Given the description of an element on the screen output the (x, y) to click on. 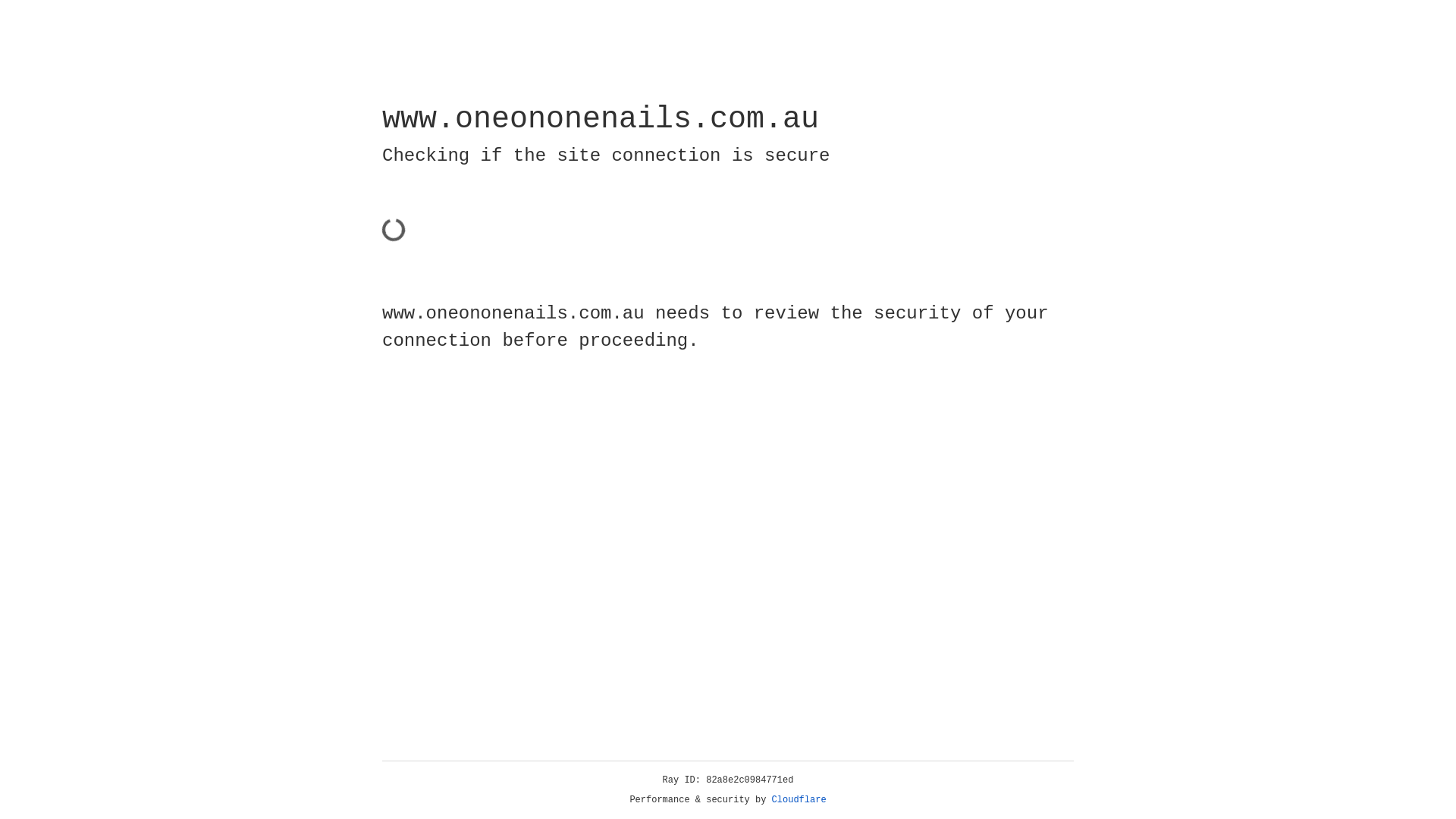
Cloudflare Element type: text (798, 799)
